Given the description of an element on the screen output the (x, y) to click on. 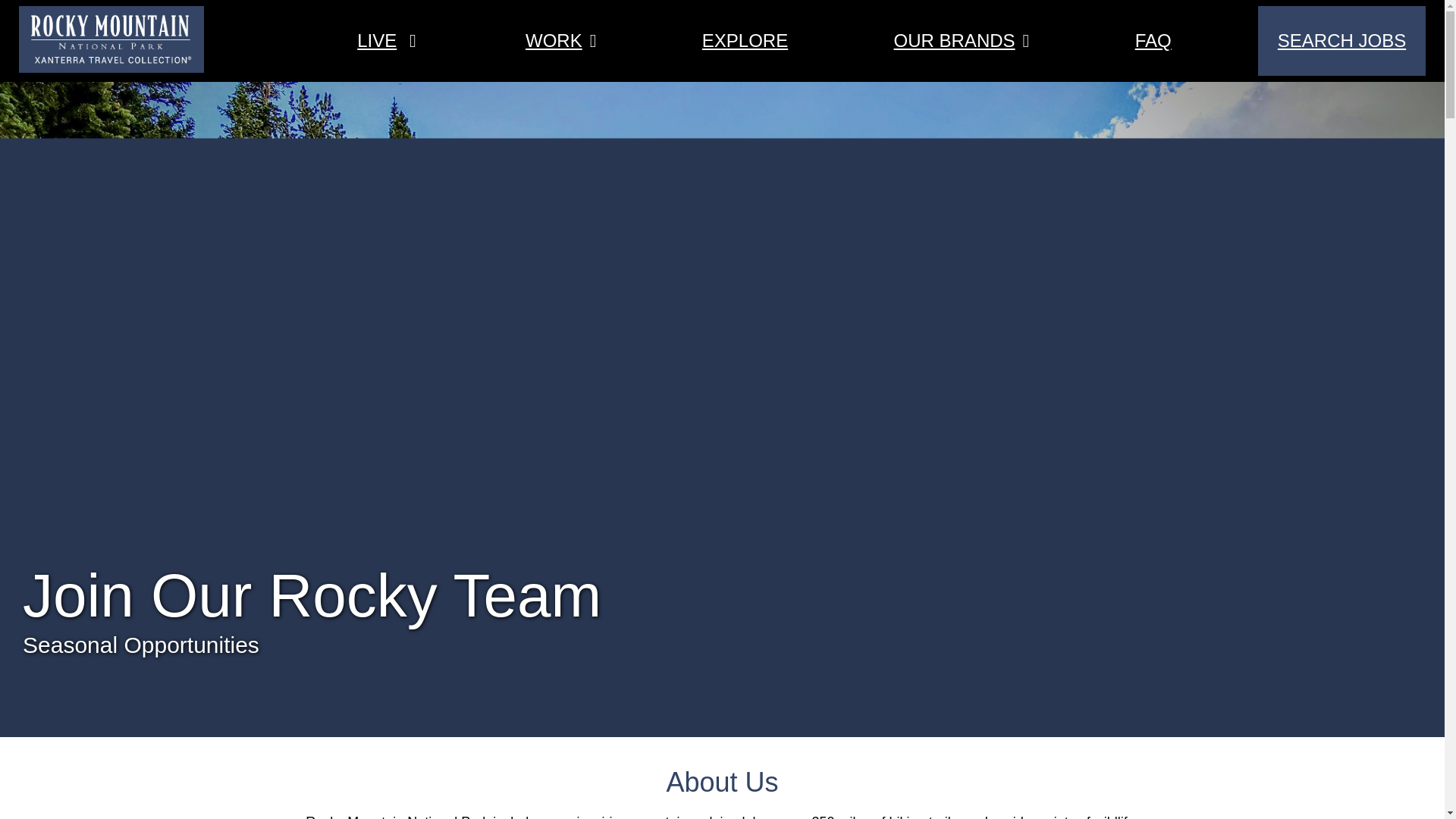
WORK (553, 40)
EXPLORE (744, 40)
OUR BRANDS (961, 40)
OUR BRANDS (953, 40)
SEARCH JOBS (1341, 40)
LIVE (376, 40)
WORK (560, 40)
FAQ (1153, 40)
LIVE (385, 40)
